Given the description of an element on the screen output the (x, y) to click on. 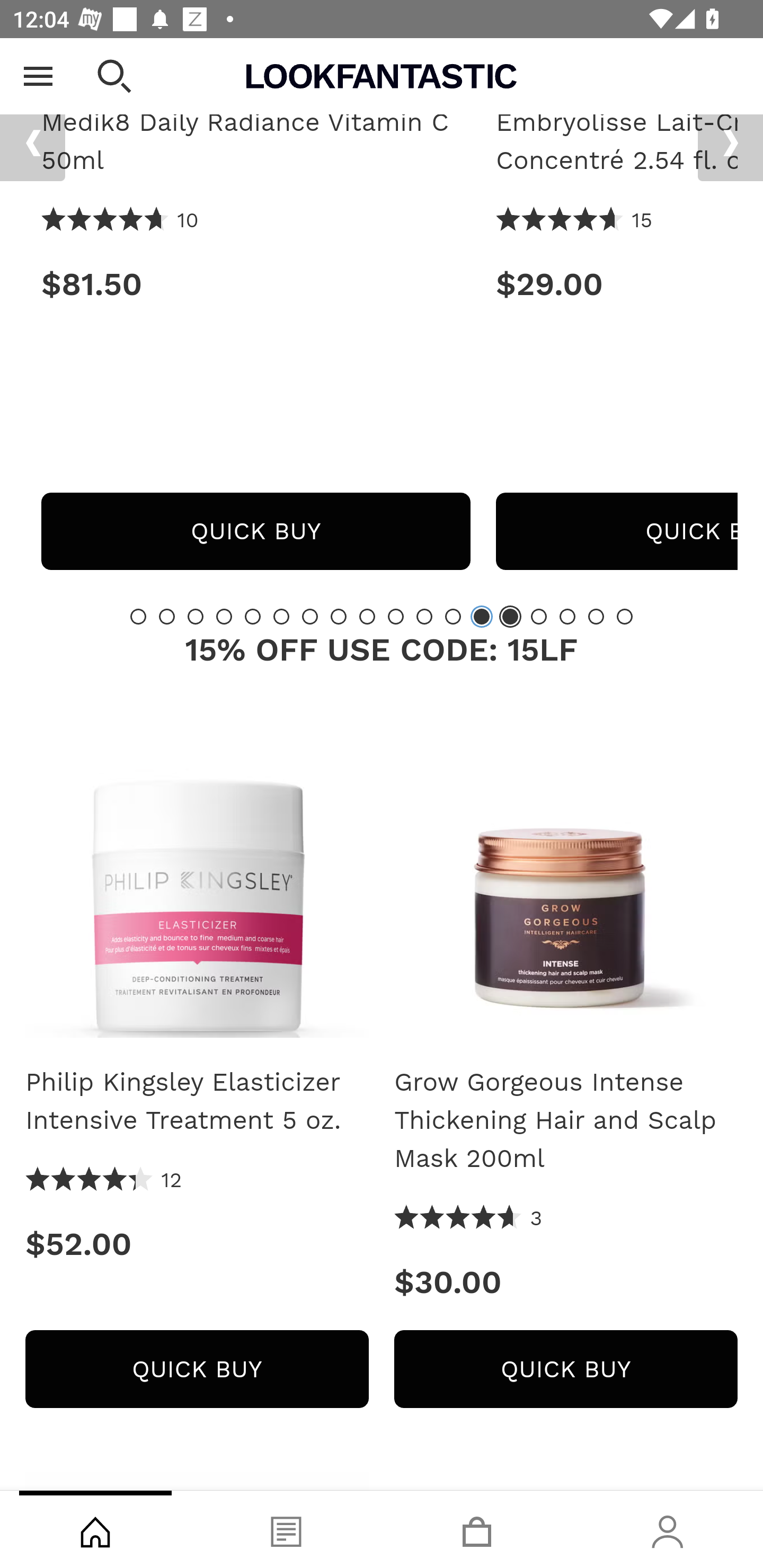
Medik8 Daily Radiance Vitamin C 50ml (255, 142)
Embryolisse Lait-Crème Concentré 2.54 fl. oz (616, 142)
Previous (32, 144)
Next (730, 144)
4.7 Stars 10 Reviews (120, 221)
4.67 Stars 15 Reviews (574, 221)
Price: $81.50 (255, 284)
Price: $29.00 (616, 284)
QUICK BUY MEDIK8 DAILY RADIANCE VITAMIN C 50ML (255, 532)
Slide 1 (138, 616)
Slide 2 (166, 616)
Slide 3 (195, 616)
Slide 4 (223, 616)
Slide 5 (252, 616)
Slide 6 (281, 616)
Slide 7 (310, 616)
Slide 8 (338, 616)
Slide 9 (367, 616)
Slide 10 (395, 616)
Slide 11 (424, 616)
Slide 12 (452, 616)
Showing Slide 13 (Current Item) (481, 616)
Showing Slide 14 (Current Item) (510, 616)
Slide 15 (539, 616)
Slide 16 (567, 616)
Slide 17 (596, 616)
Slide 18 (624, 616)
4.33 Stars 12 Reviews (104, 1181)
4.67 Stars 3 Reviews (468, 1219)
Price: $52.00 (196, 1244)
Price: $30.00 (565, 1283)
Shop, tab, 1 of 4 (95, 1529)
Blog, tab, 2 of 4 (285, 1529)
Basket, tab, 3 of 4 (476, 1529)
Account, tab, 4 of 4 (667, 1529)
